Given the description of an element on the screen output the (x, y) to click on. 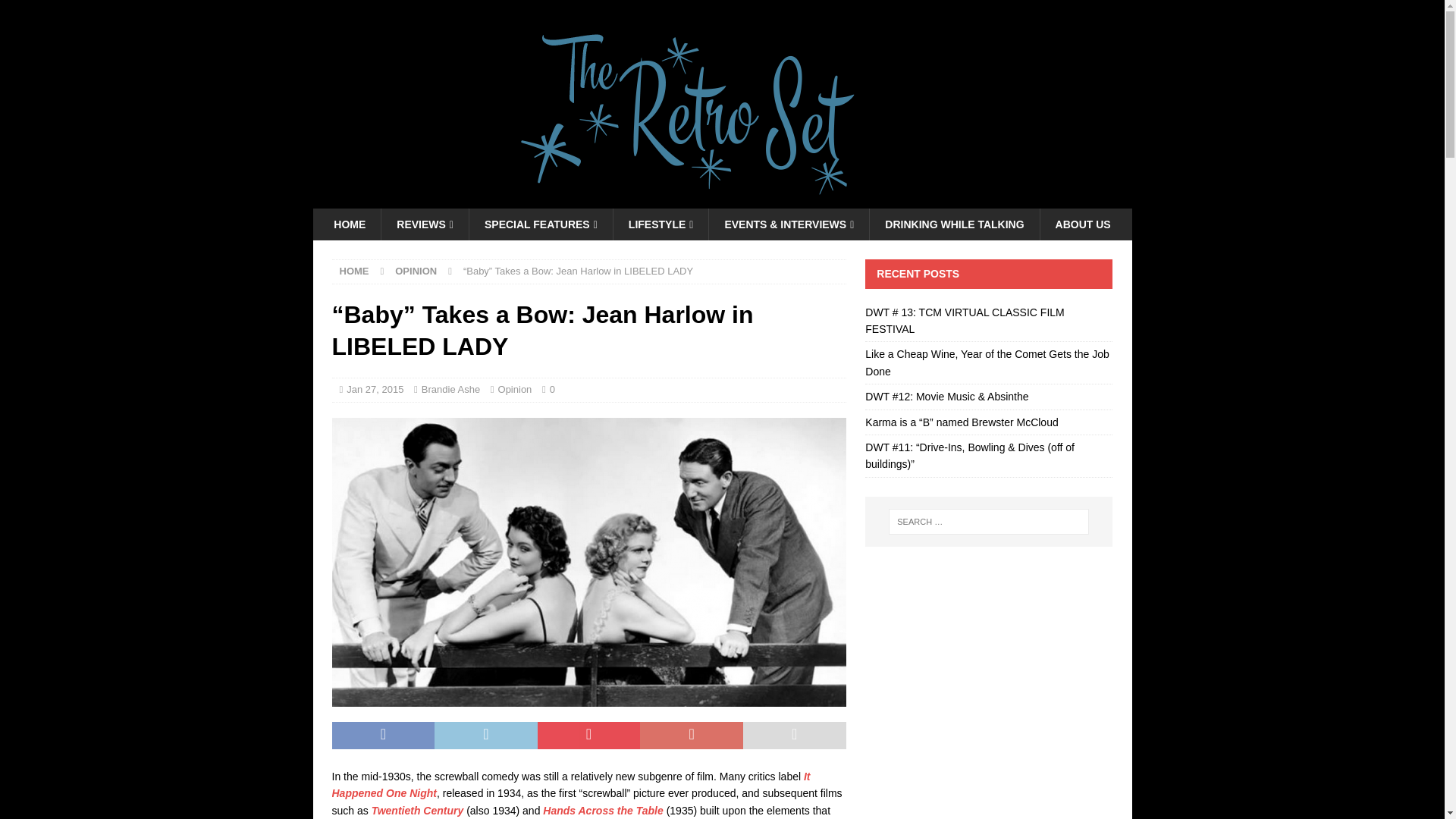
Brandie Ashe (451, 389)
DWT: Drinking While Talking (954, 224)
Opinion (514, 389)
HOME (349, 224)
It Happened One Night (570, 784)
REVIEWS (424, 224)
Twentieth Century (417, 810)
SPECIAL FEATURES (540, 224)
Hands Across the Table (602, 810)
DRINKING WHILE TALKING (954, 224)
HOME (354, 270)
Jan 27, 2015 (374, 389)
OPINION (415, 270)
ABOUT US (1082, 224)
LIFESTYLE (660, 224)
